Given the description of an element on the screen output the (x, y) to click on. 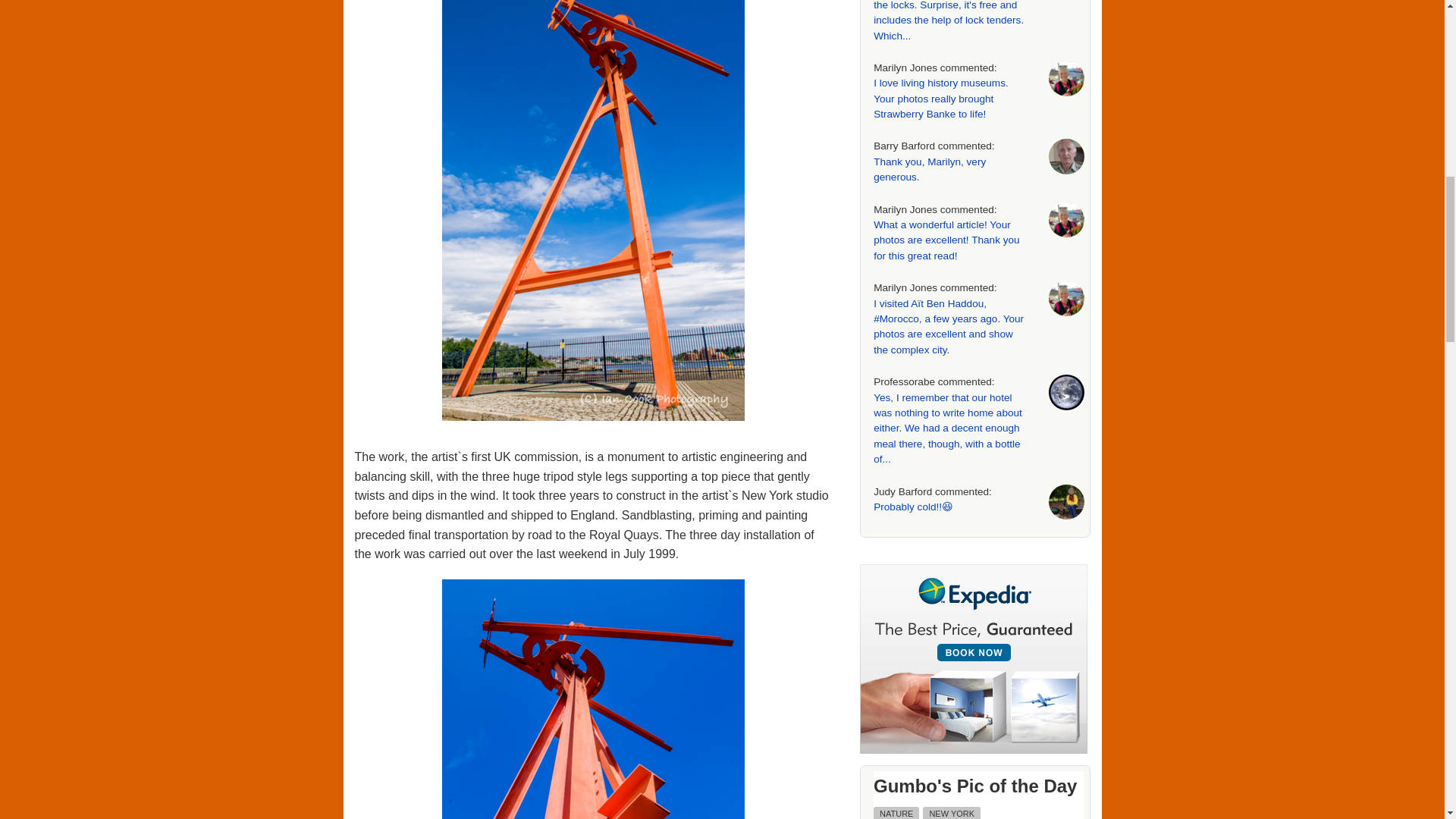
image3 (593, 699)
image3 (593, 699)
